Given the description of an element on the screen output the (x, y) to click on. 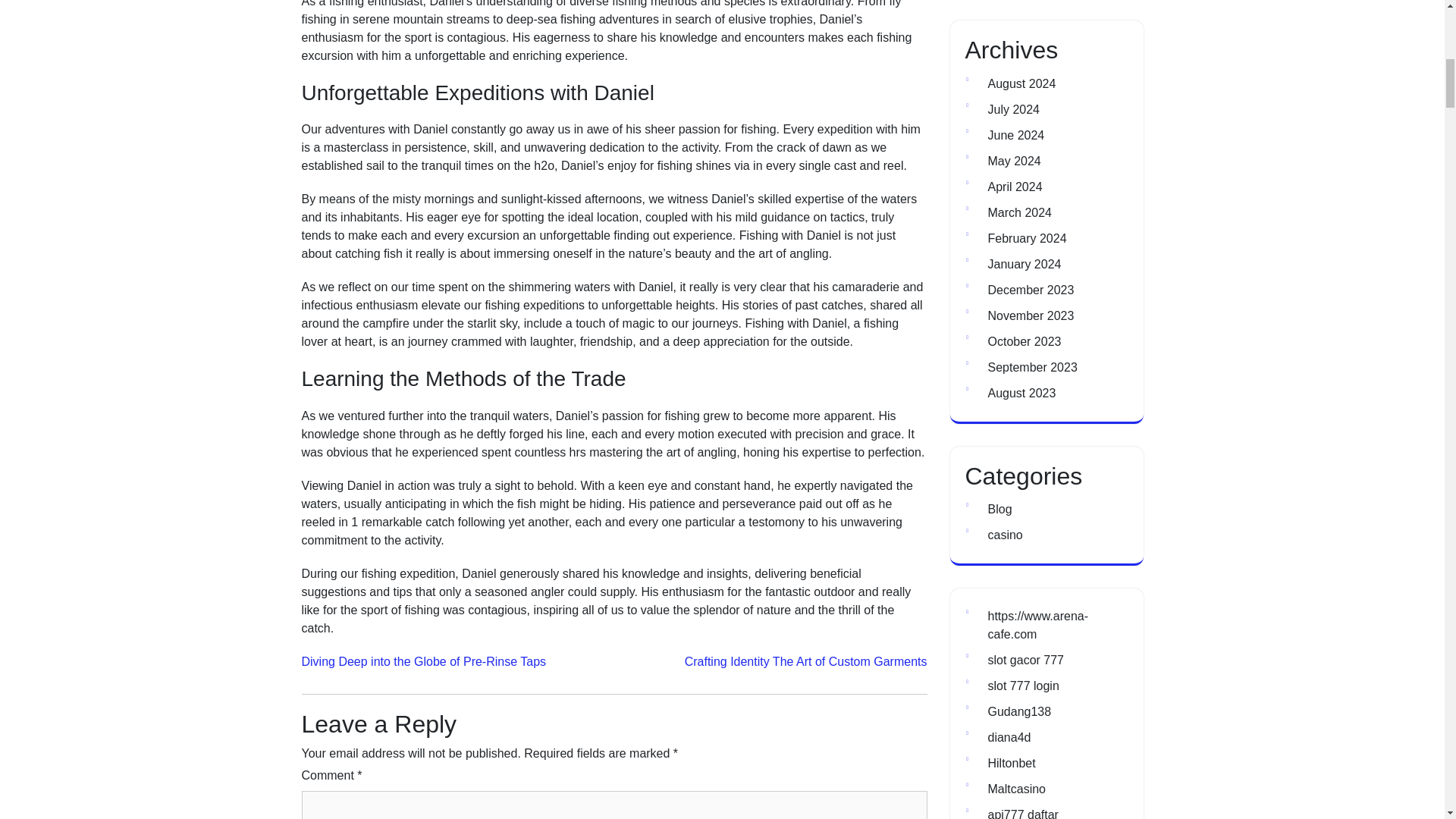
slot gacor 777 (1025, 659)
January 2024 (1024, 264)
Crafting Identity The Art of Custom Garments (805, 661)
August 2024 (1021, 83)
diana4d (1008, 737)
June 2024 (1015, 134)
March 2024 (1019, 212)
November 2023 (1030, 315)
August 2023 (1021, 392)
May 2024 (1014, 160)
December 2023 (1030, 289)
April 2024 (1014, 186)
casino (1004, 534)
July 2024 (1013, 109)
Blog (999, 508)
